Given the description of an element on the screen output the (x, y) to click on. 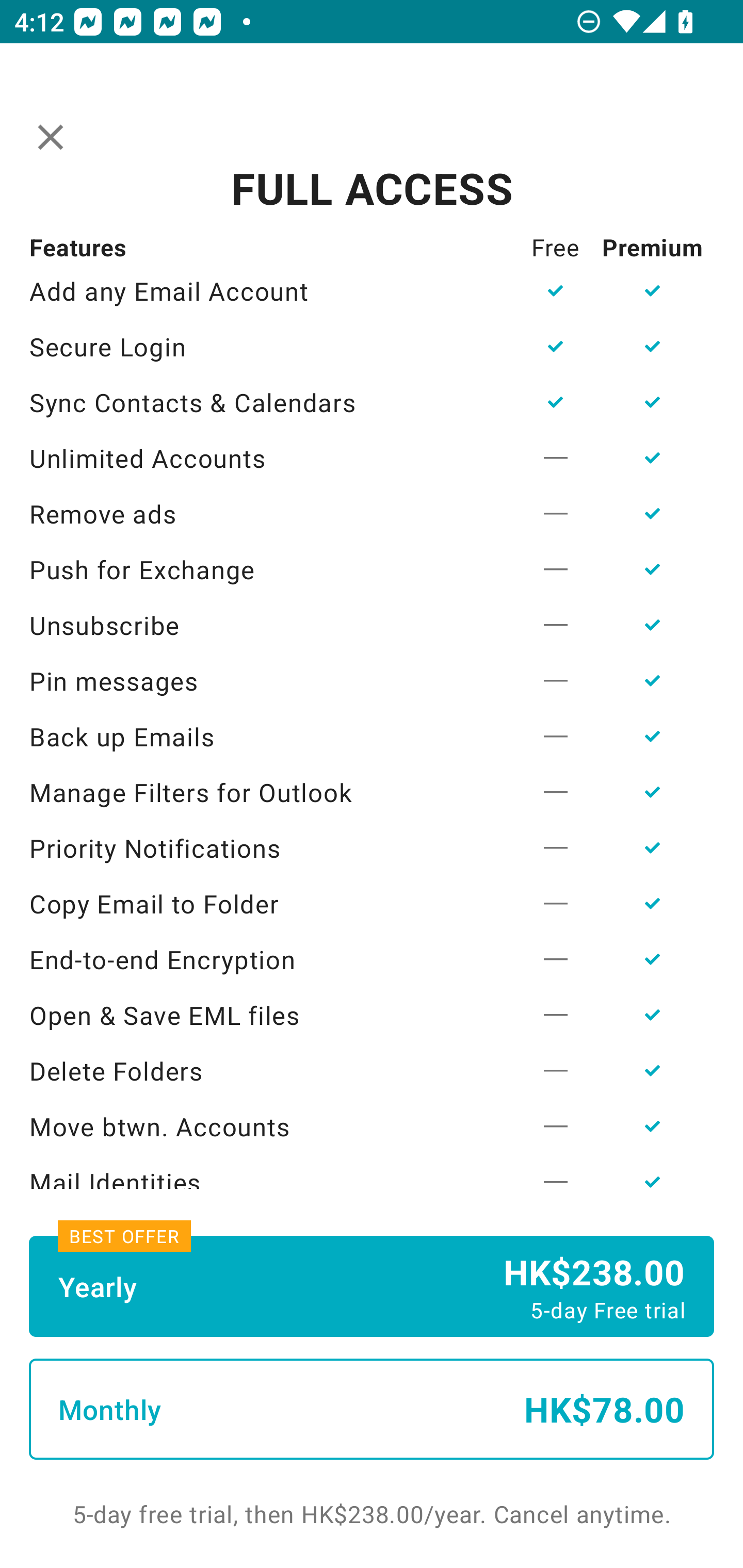
Yearly HK$238.00 5-day Free trial (371, 1286)
Monthly HK$78.00 (371, 1408)
